Given the description of an element on the screen output the (x, y) to click on. 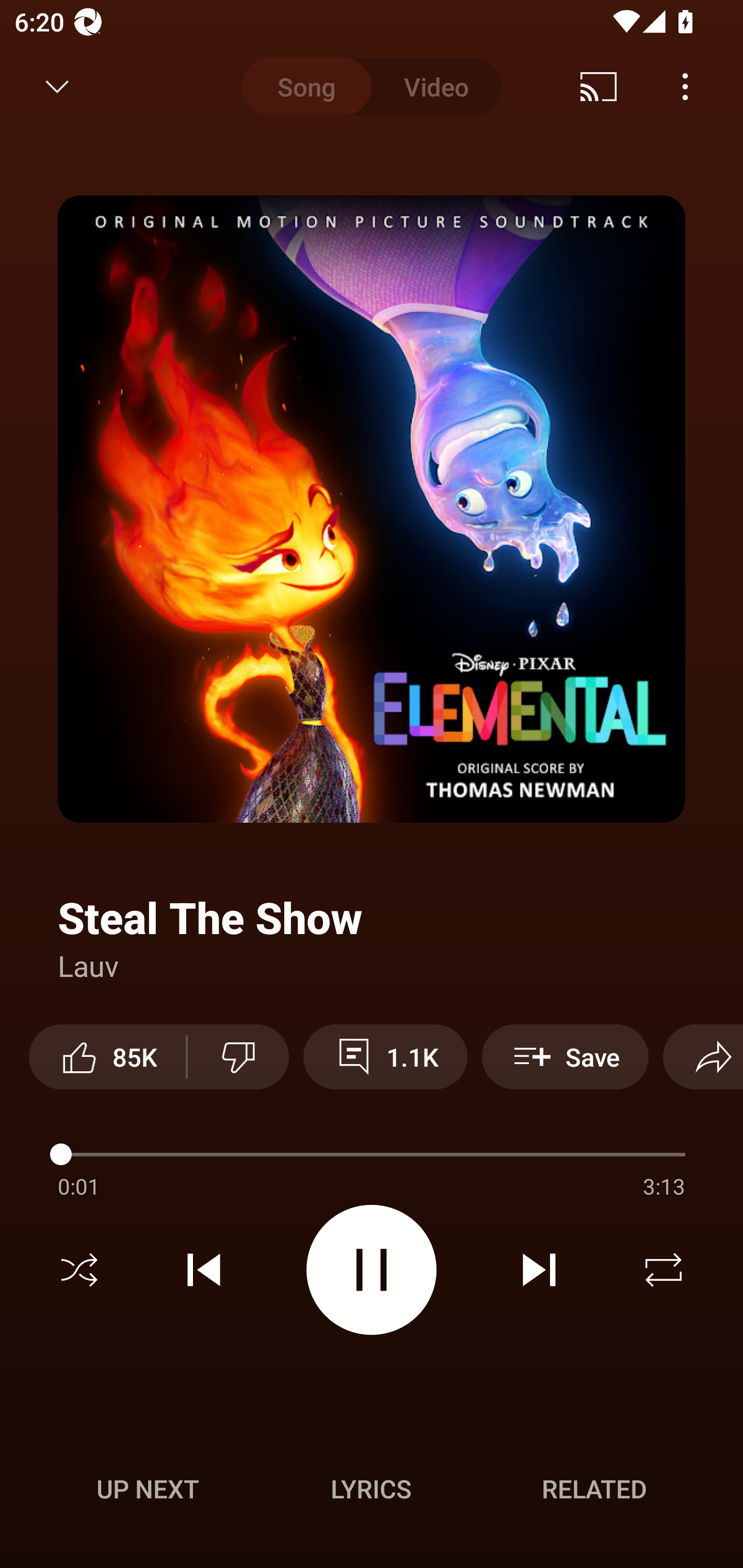
Minimize (57, 86)
Cast. Disconnected (598, 86)
Menu (684, 86)
85K like this video along with 85,777 other people (106, 1056)
Dislike (238, 1056)
1.1K View 1,180 comments (385, 1056)
Save Save to playlist (565, 1056)
Share (702, 1056)
Pause video (371, 1269)
Shuffle off (79, 1269)
Previous track (203, 1269)
Next track (538, 1269)
Repeat off (663, 1269)
Up next UP NEXT Lyrics LYRICS Related RELATED (371, 1491)
Lyrics LYRICS (370, 1488)
Related RELATED (594, 1488)
